Given the description of an element on the screen output the (x, y) to click on. 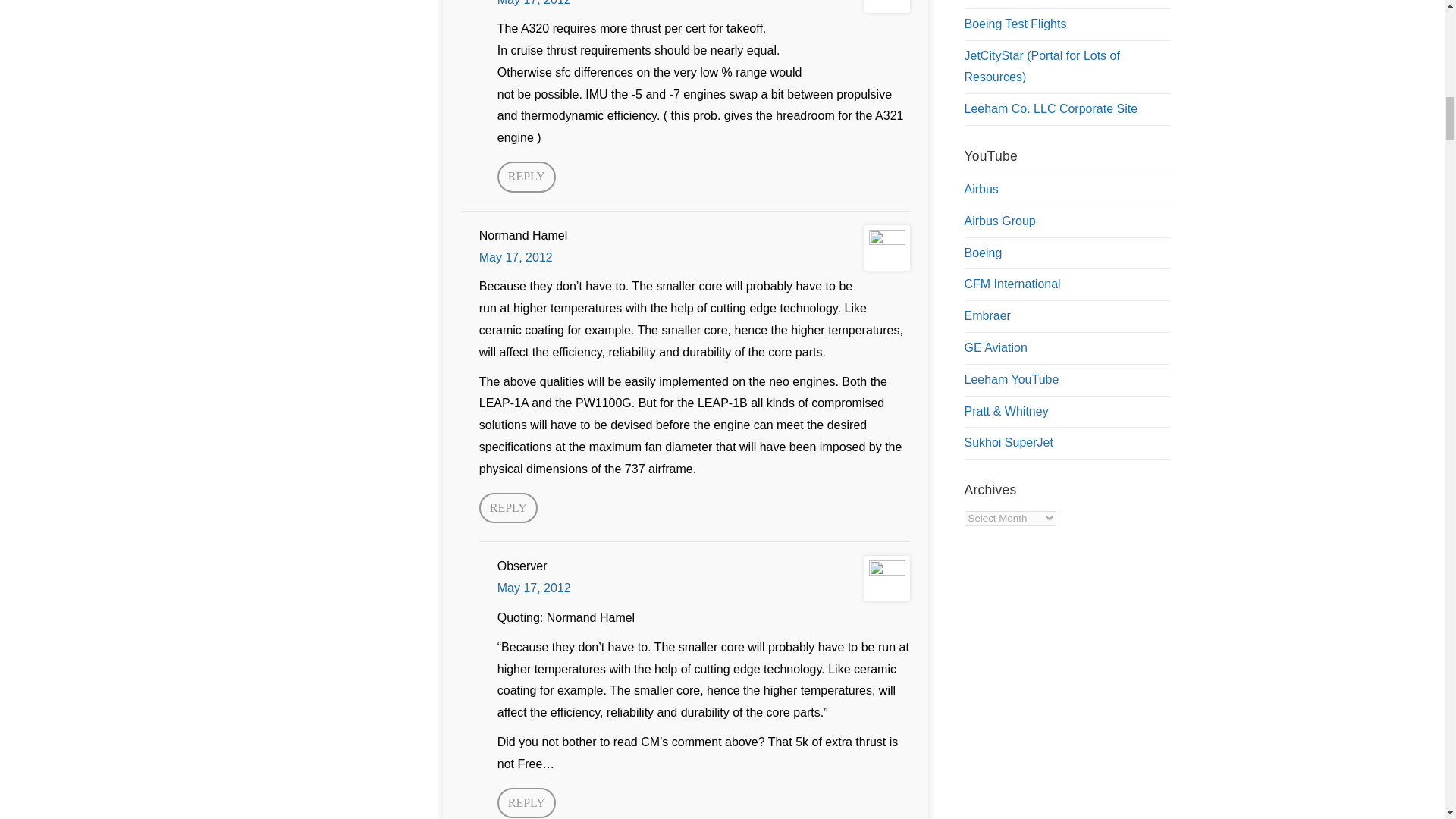
REPLY (526, 803)
May 17, 2012 (533, 2)
REPLY (508, 508)
May 17, 2012 (516, 256)
REPLY (526, 176)
May 17, 2012 (533, 587)
